Given the description of an element on the screen output the (x, y) to click on. 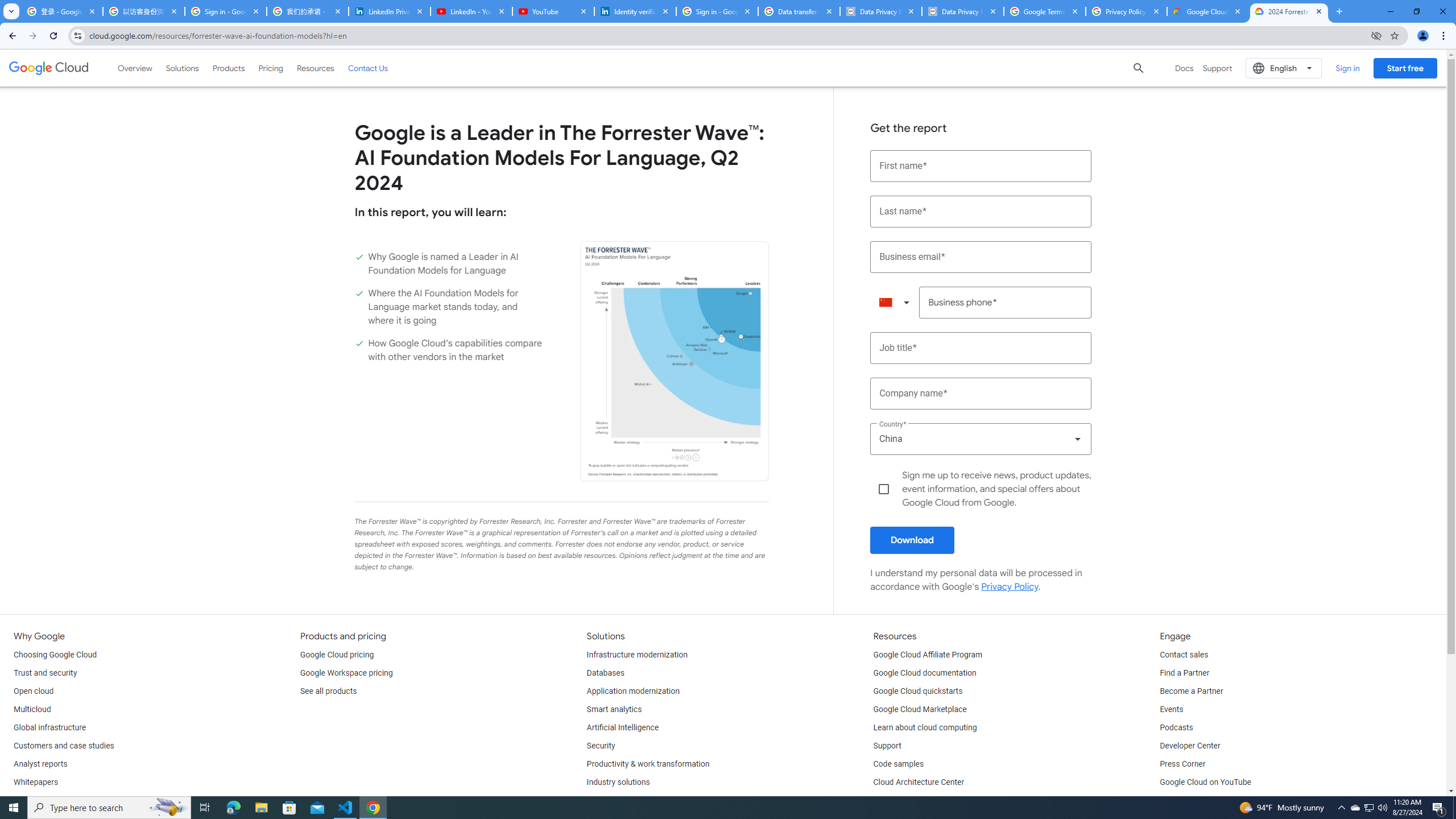
Choosing Google Cloud (55, 655)
Open cloud (33, 691)
Learn about cloud computing (924, 728)
Google Cloud Privacy Notice (1207, 11)
Google Cloud Affiliate Program (927, 655)
See all products (327, 691)
LinkedIn Privacy Policy (389, 11)
Code samples (898, 764)
